Given the description of an element on the screen output the (x, y) to click on. 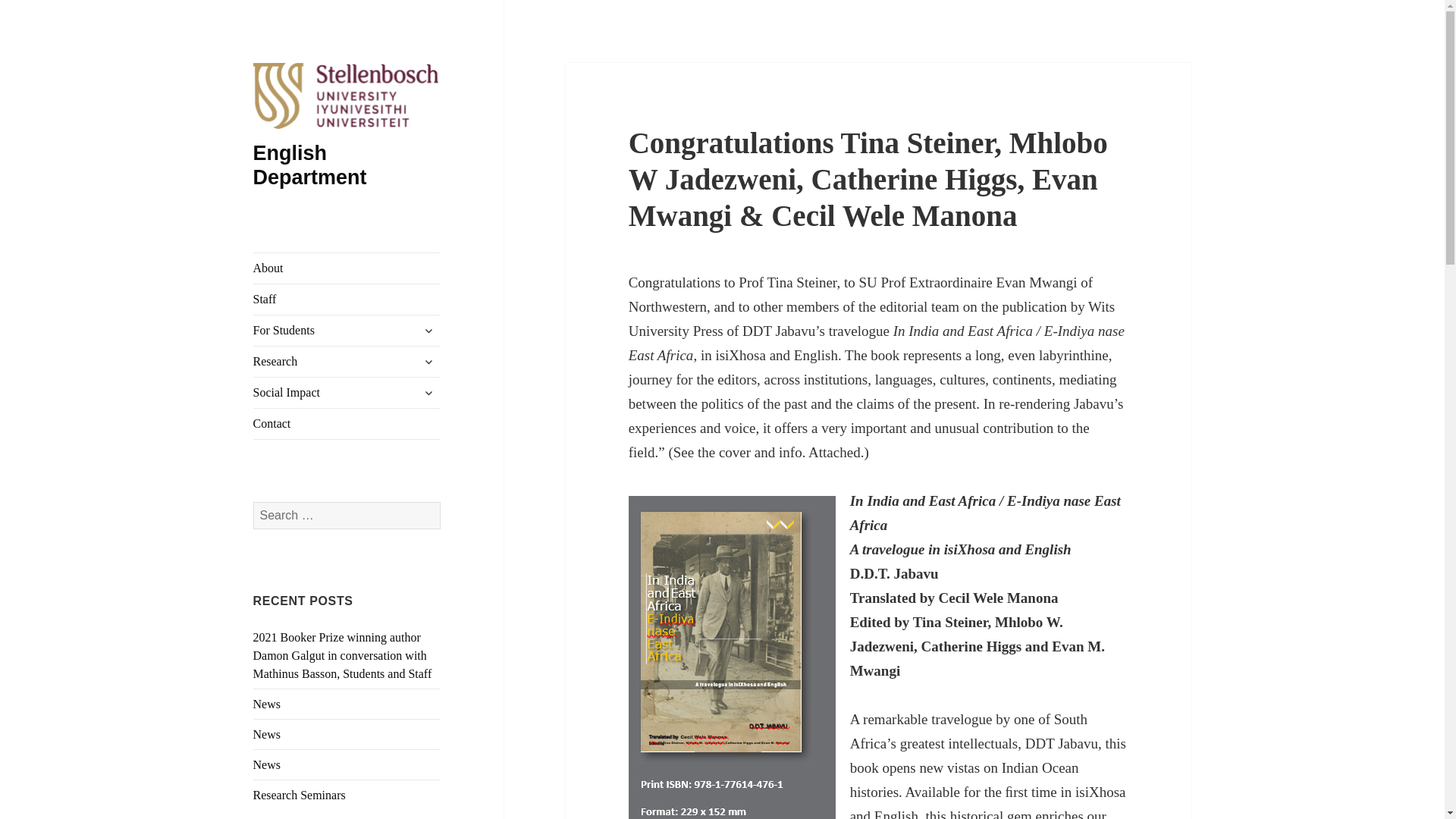
News (267, 703)
expand child menu (428, 361)
For Students (347, 330)
English Department (309, 165)
expand child menu (428, 392)
News (267, 764)
Research Seminars (299, 794)
